Given the description of an element on the screen output the (x, y) to click on. 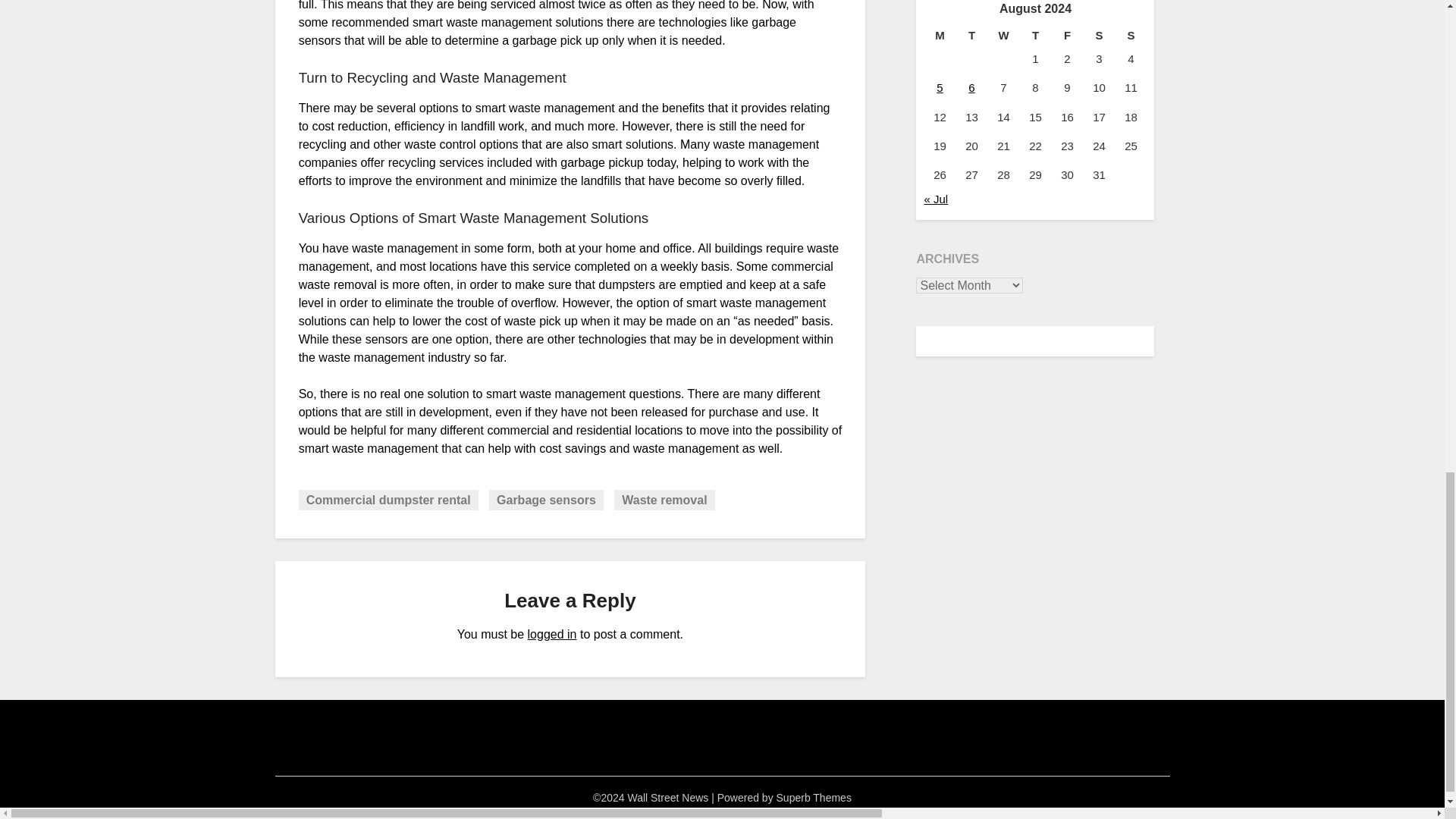
Garbage sensors (546, 499)
Commercial dumpster rental (388, 499)
Friday (1067, 35)
Monday (939, 35)
Saturday (1099, 35)
logged in (551, 634)
Waste removal (664, 499)
Tuesday (971, 35)
Wednesday (1003, 35)
Sunday (1131, 35)
